Given the description of an element on the screen output the (x, y) to click on. 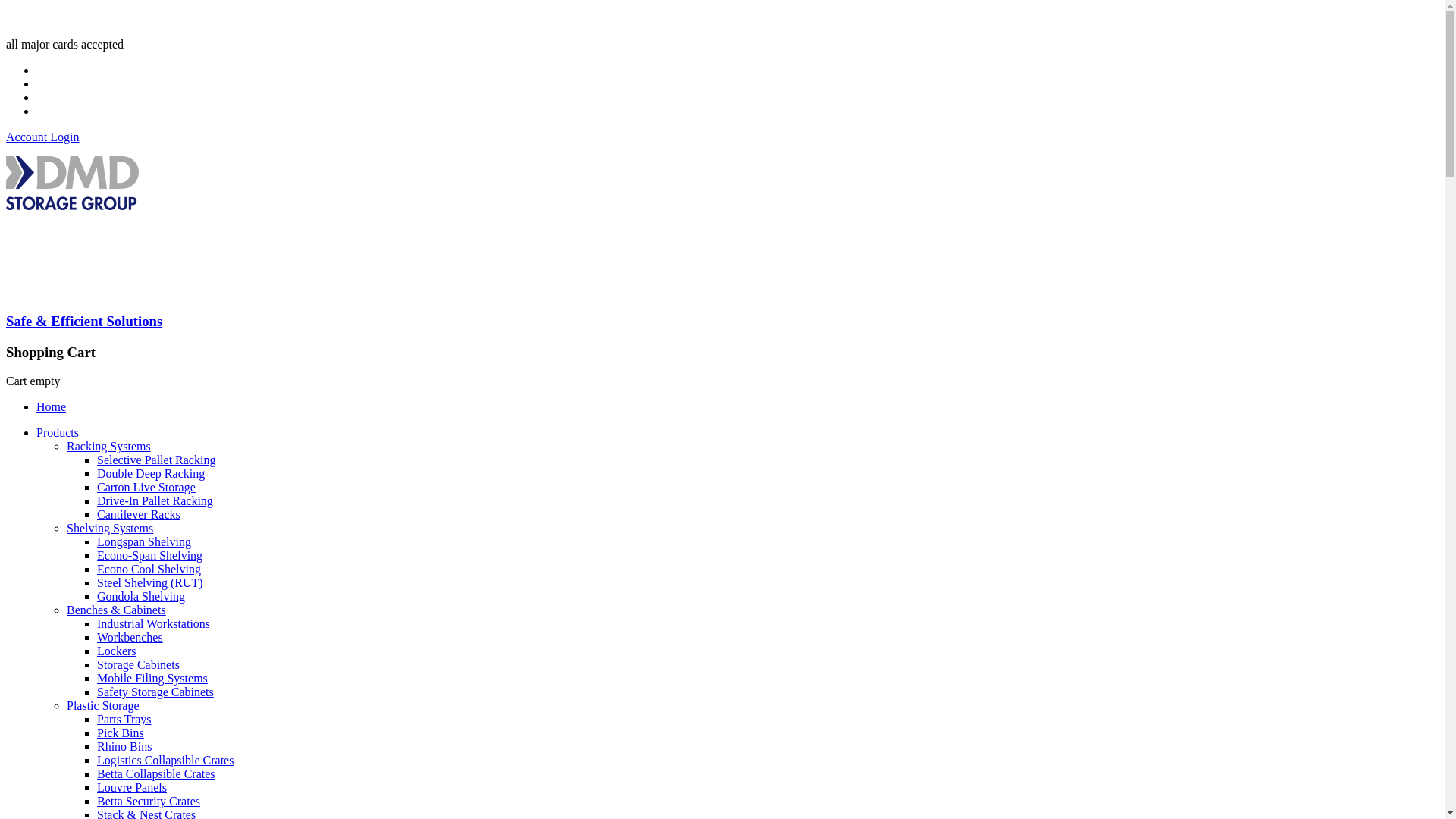
Safety Storage Cabinets Element type: text (155, 691)
Shelving Systems Element type: text (109, 527)
Workbenches Element type: text (130, 636)
Gondola Shelving Element type: text (141, 595)
Account Login Element type: text (42, 136)
Storage Cabinets Element type: text (138, 664)
Double Deep Racking Element type: text (150, 473)
Plastic Storage Element type: text (102, 705)
Betta Security Crates Element type: text (148, 800)
Home Element type: text (50, 406)
Longspan Shelving Element type: text (144, 541)
Safe & Efficient Solutions Element type: text (722, 242)
Carton Live Storage Element type: text (146, 486)
Betta Collapsible Crates Element type: text (156, 773)
Louvre Panels Element type: text (131, 787)
Rhino Bins Element type: text (124, 746)
Logistics Collapsible Crates Element type: text (165, 759)
Drive-In Pallet Racking Element type: text (155, 500)
Benches & Cabinets Element type: text (116, 609)
Econo-Span Shelving Element type: text (149, 555)
Steel Shelving (RUT) Element type: text (150, 582)
Cantilever Racks Element type: text (138, 514)
Parts Trays Element type: text (124, 718)
Products Element type: text (57, 432)
Mobile Filing Systems Element type: text (152, 677)
Pick Bins Element type: text (120, 732)
CALL US NOW 08 9410 9400 Element type: text (83, 18)
Industrial Workstations Element type: text (153, 623)
Econo Cool Shelving Element type: text (148, 568)
Lockers Element type: text (116, 650)
Selective Pallet Racking Element type: text (156, 459)
Racking Systems Element type: text (108, 445)
